Given the description of an element on the screen output the (x, y) to click on. 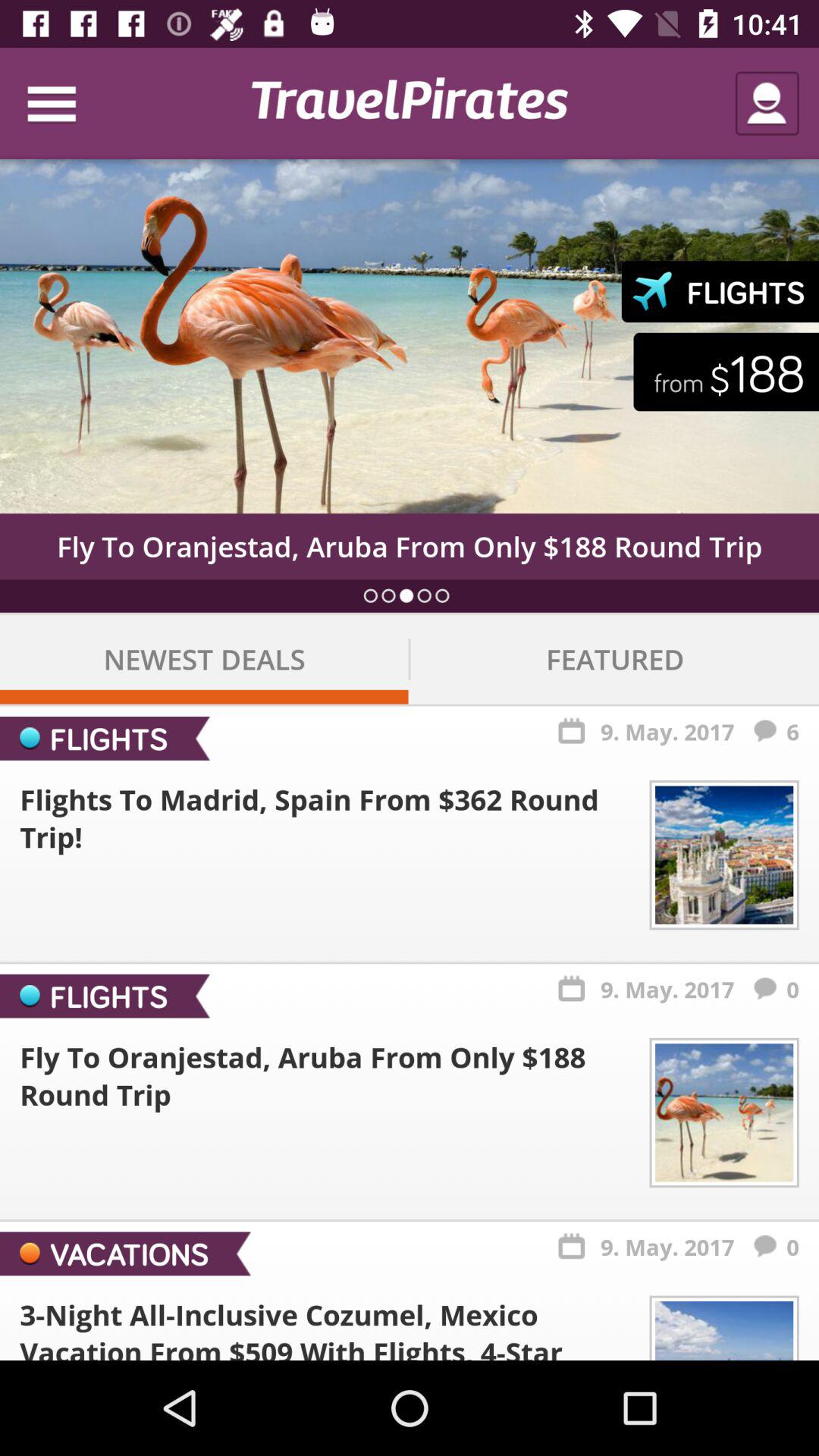
click on icon at the top left corner (66, 103)
select the firsr image which is before flights to madrid spain from 362 round trip (724, 855)
